Given the description of an element on the screen output the (x, y) to click on. 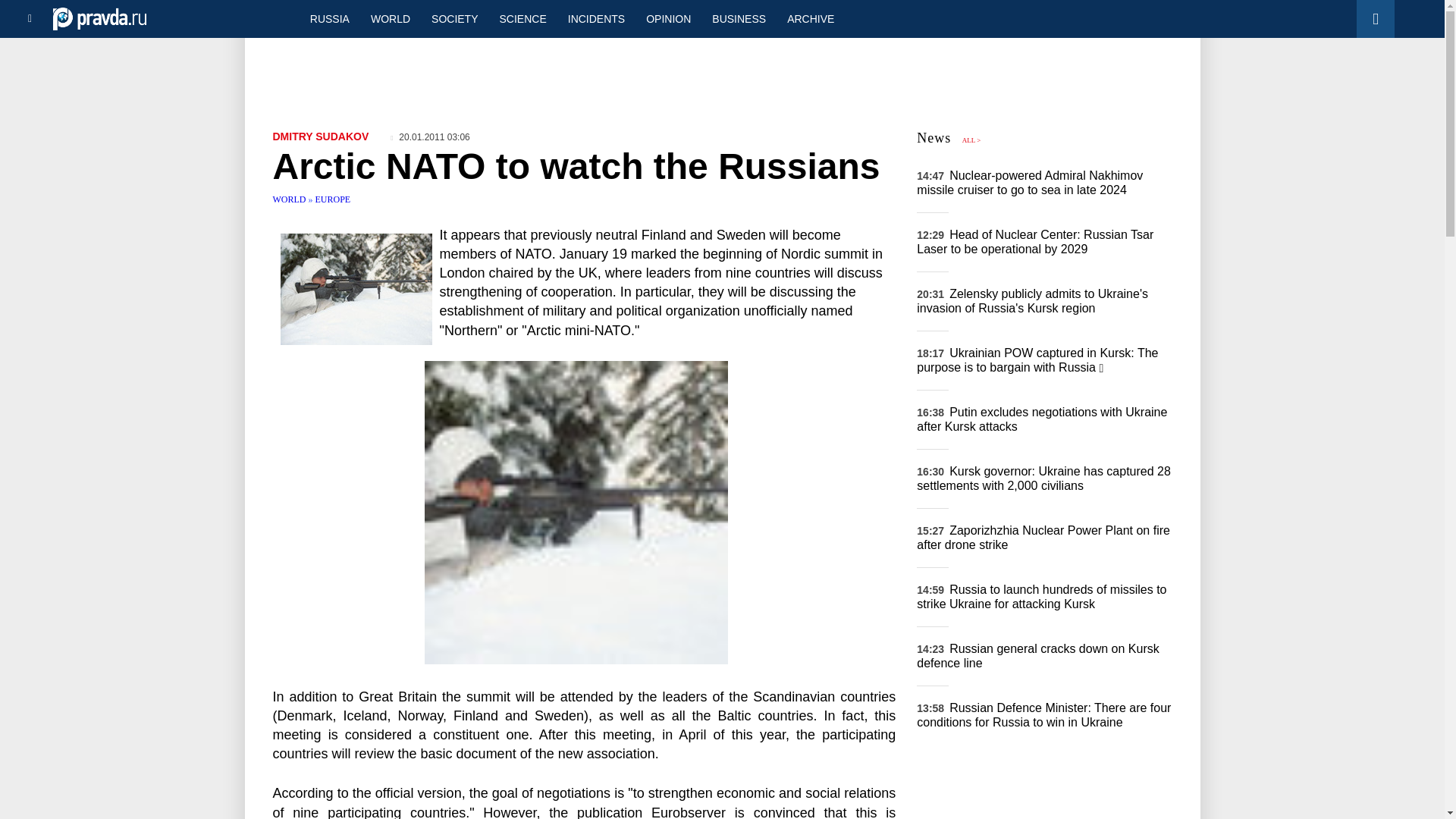
EUROPE (332, 199)
BUSINESS (738, 18)
SCIENCE (523, 18)
Putin excludes negotiations with Ukraine after Kursk attacks (1042, 419)
OPINION (667, 18)
WORLD (290, 199)
WORLD (389, 18)
Arctic NATO to watch the Russians (576, 512)
